Given the description of an element on the screen output the (x, y) to click on. 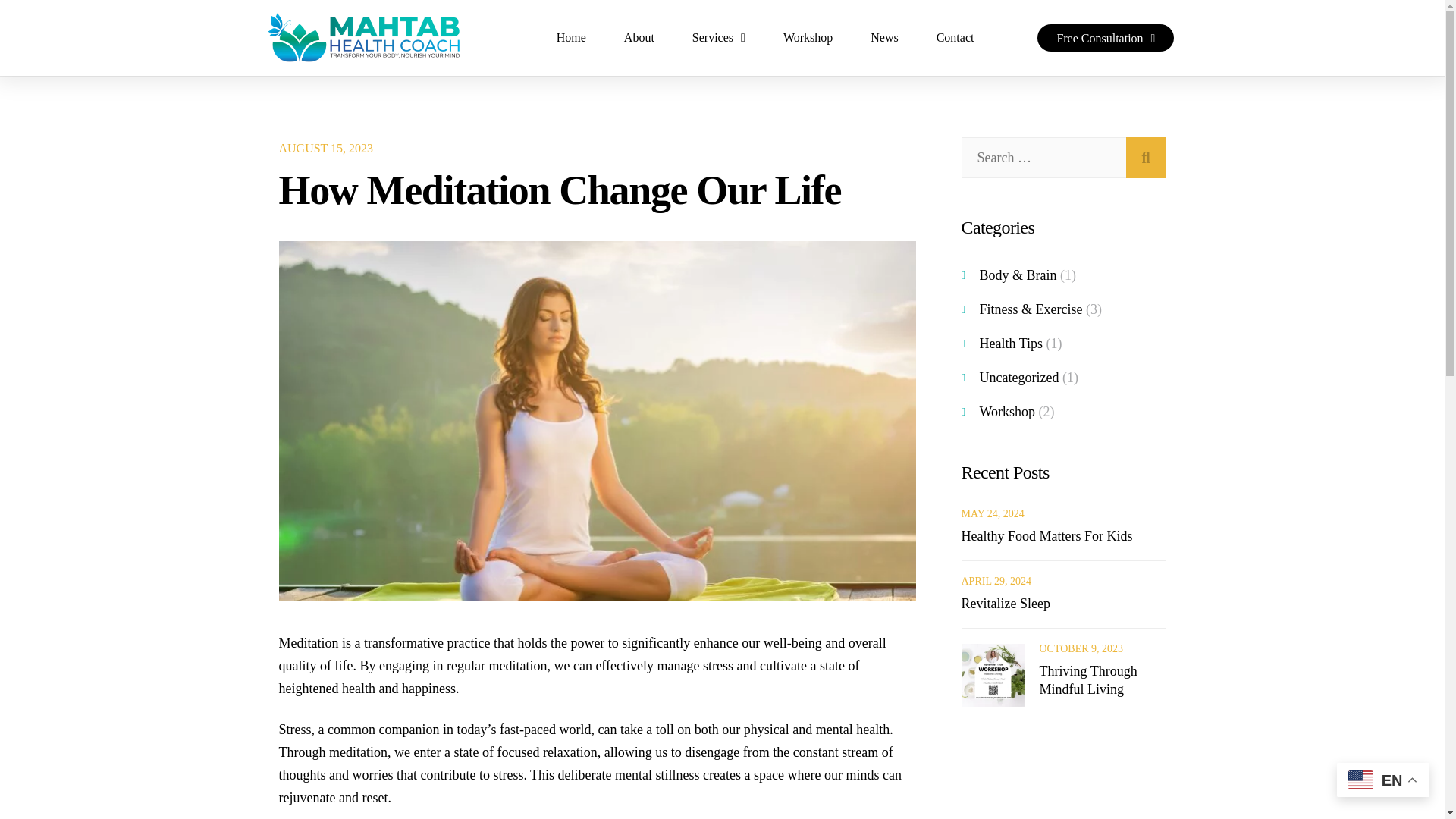
Contact (955, 37)
Free Consultation (1104, 37)
Workshop (807, 37)
Services (719, 37)
